Given the description of an element on the screen output the (x, y) to click on. 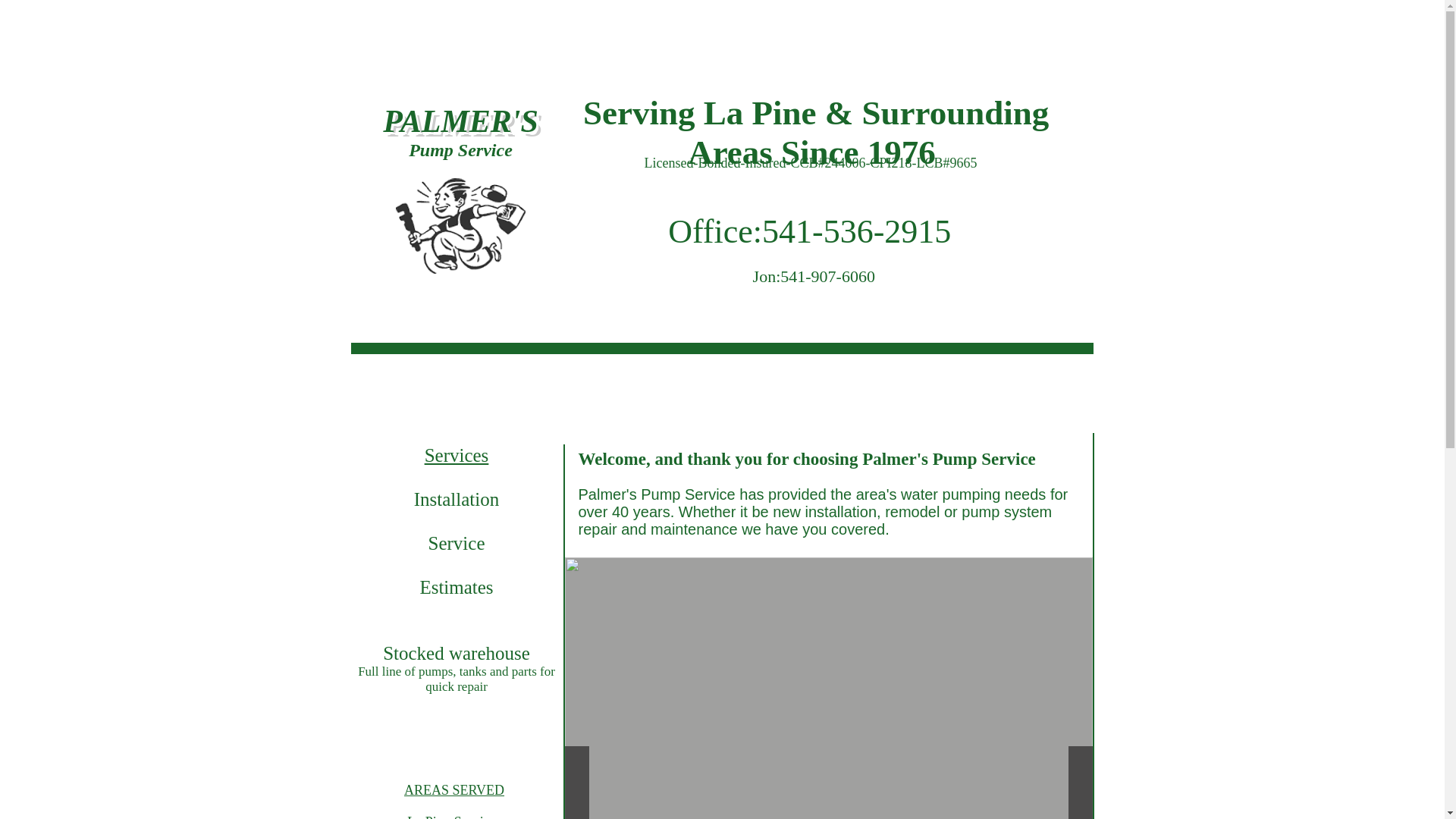
logo.png (460, 225)
